Given the description of an element on the screen output the (x, y) to click on. 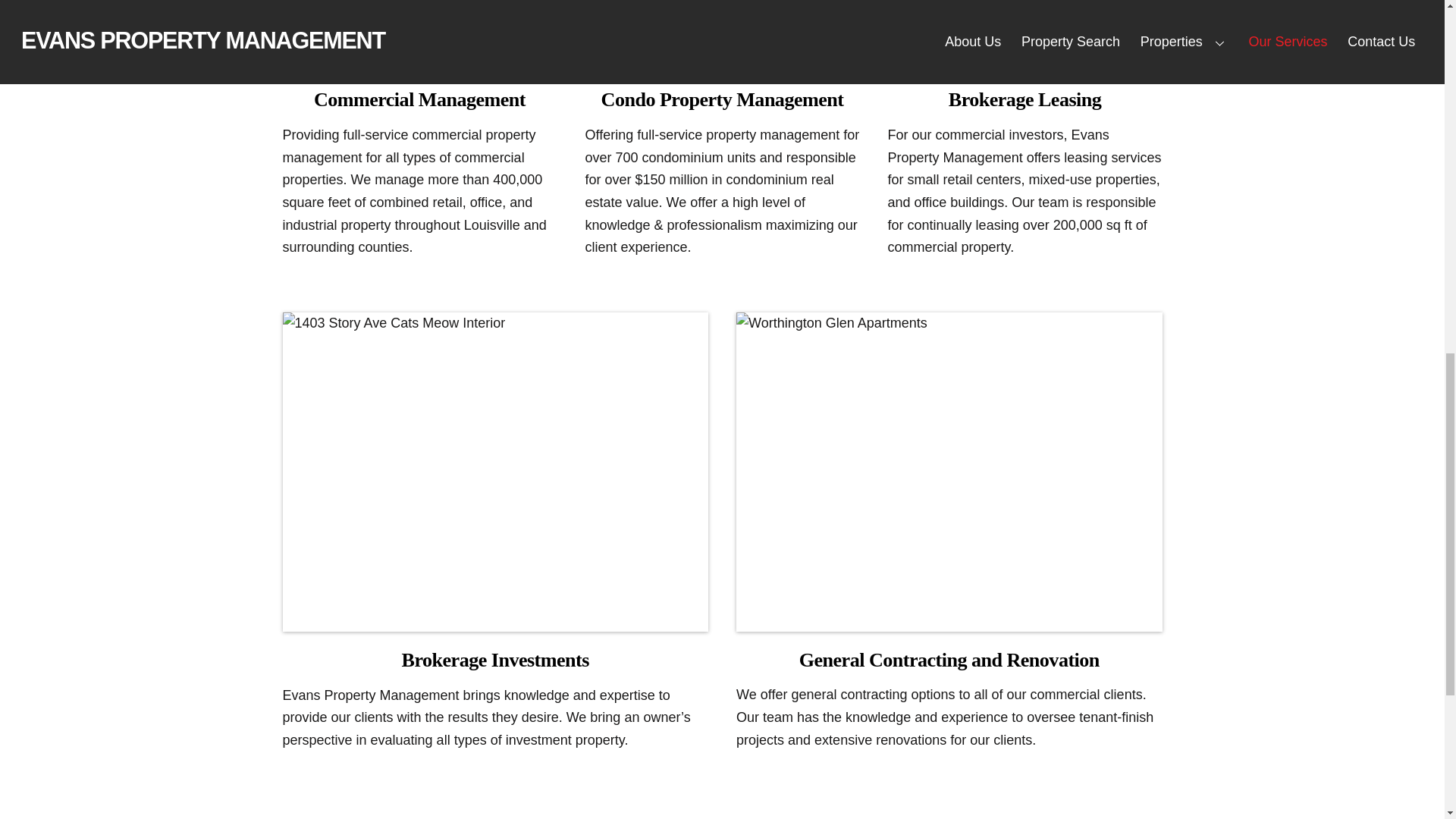
Levy Building Old Spaghetti Factory (1024, 35)
Worthington Glen Apartments (722, 35)
Chamberlain Pointe store fronts (419, 35)
